Given the description of an element on the screen output the (x, y) to click on. 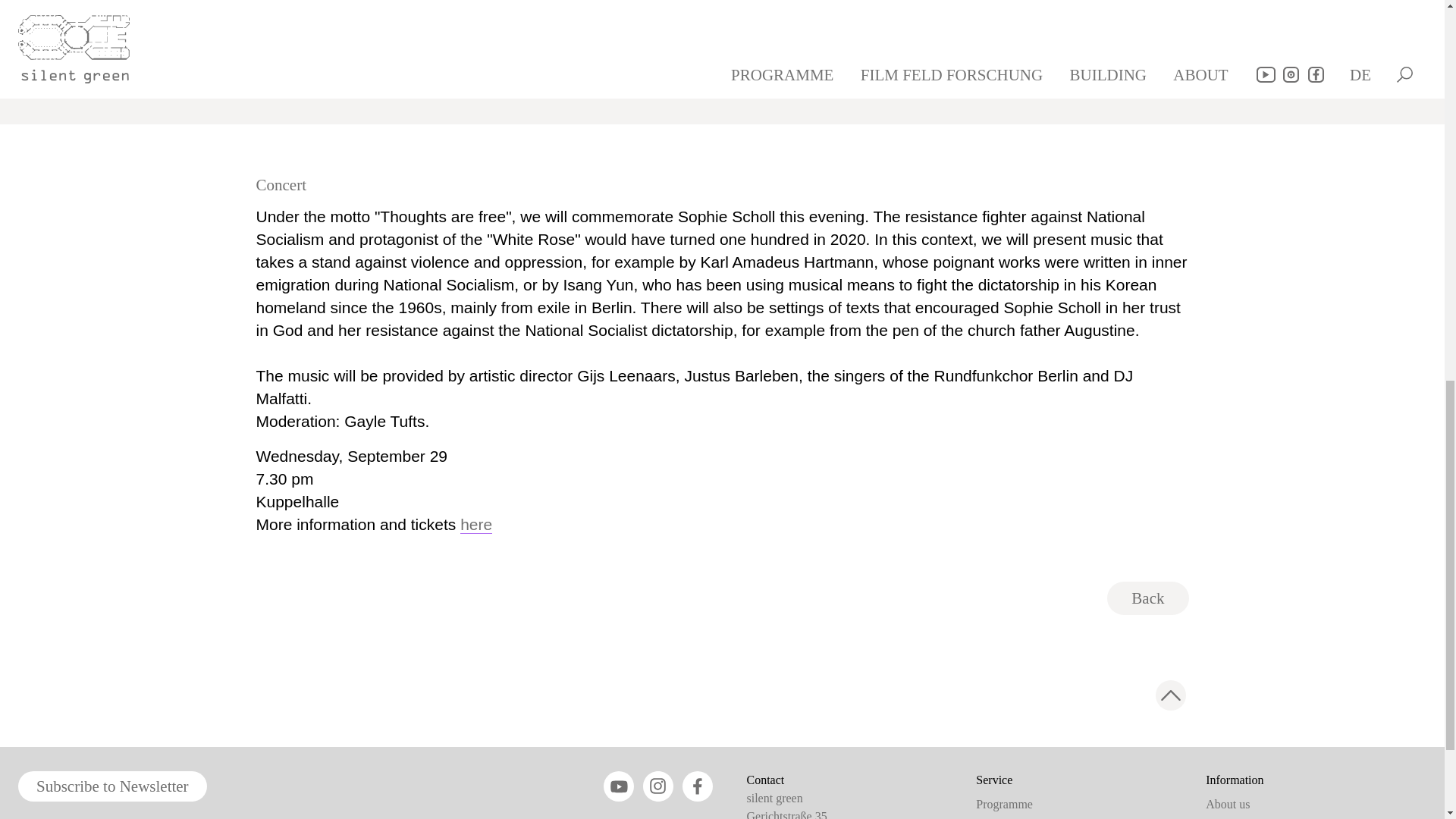
here (476, 524)
silent green on Instagram (657, 786)
Subscribe to Newsletter (111, 786)
silent green on Facebook (697, 786)
Back (1147, 598)
silent green on Youtube (618, 786)
To top (1171, 695)
